Given the description of an element on the screen output the (x, y) to click on. 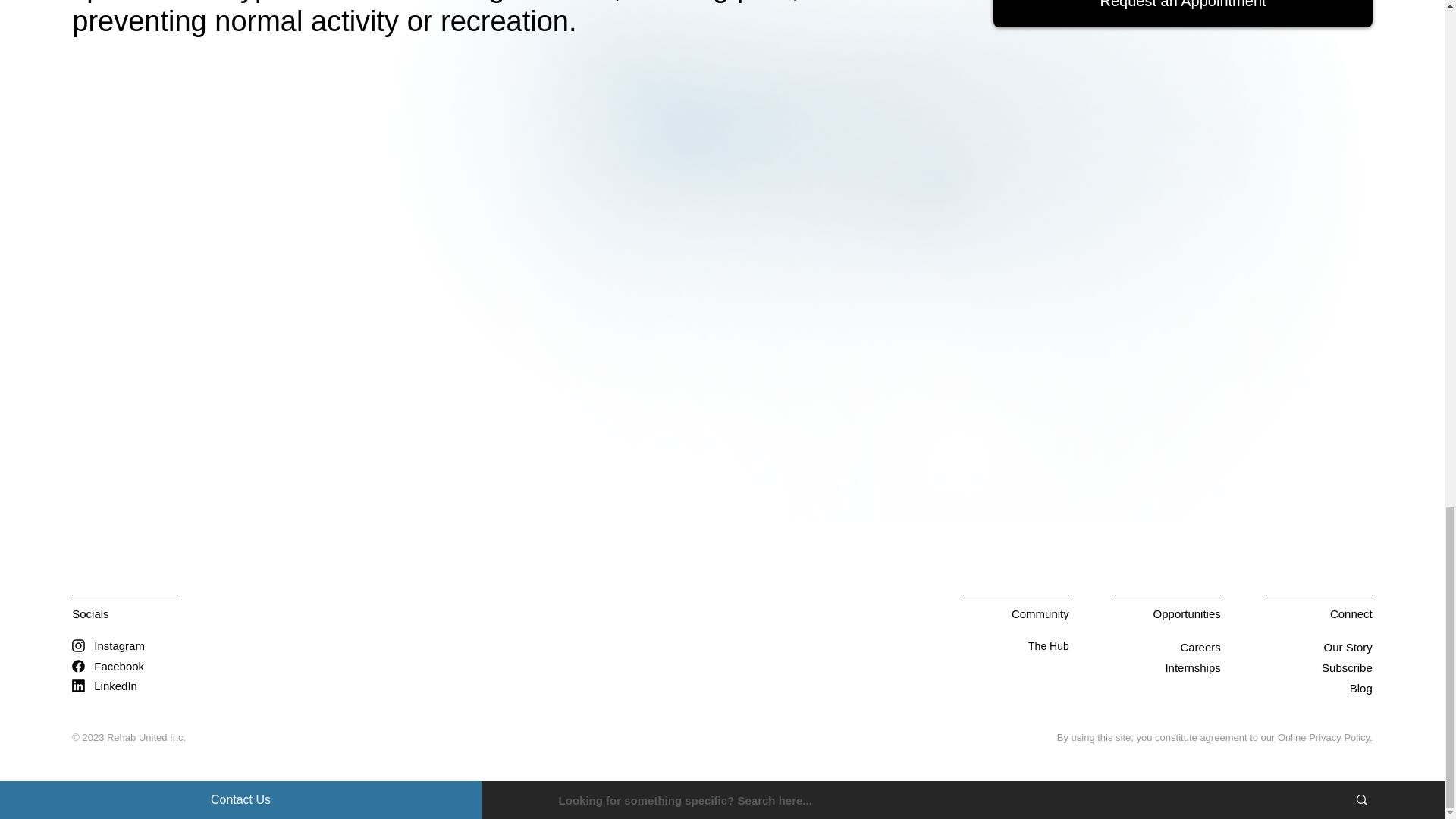
Our Story (1348, 646)
The Hub (1047, 645)
Internships (1192, 667)
Blog (1361, 687)
Request an Appointment (1181, 13)
Online Privacy Policy. (1325, 737)
Subscribe (1347, 667)
Careers (1199, 646)
